Given the description of an element on the screen output the (x, y) to click on. 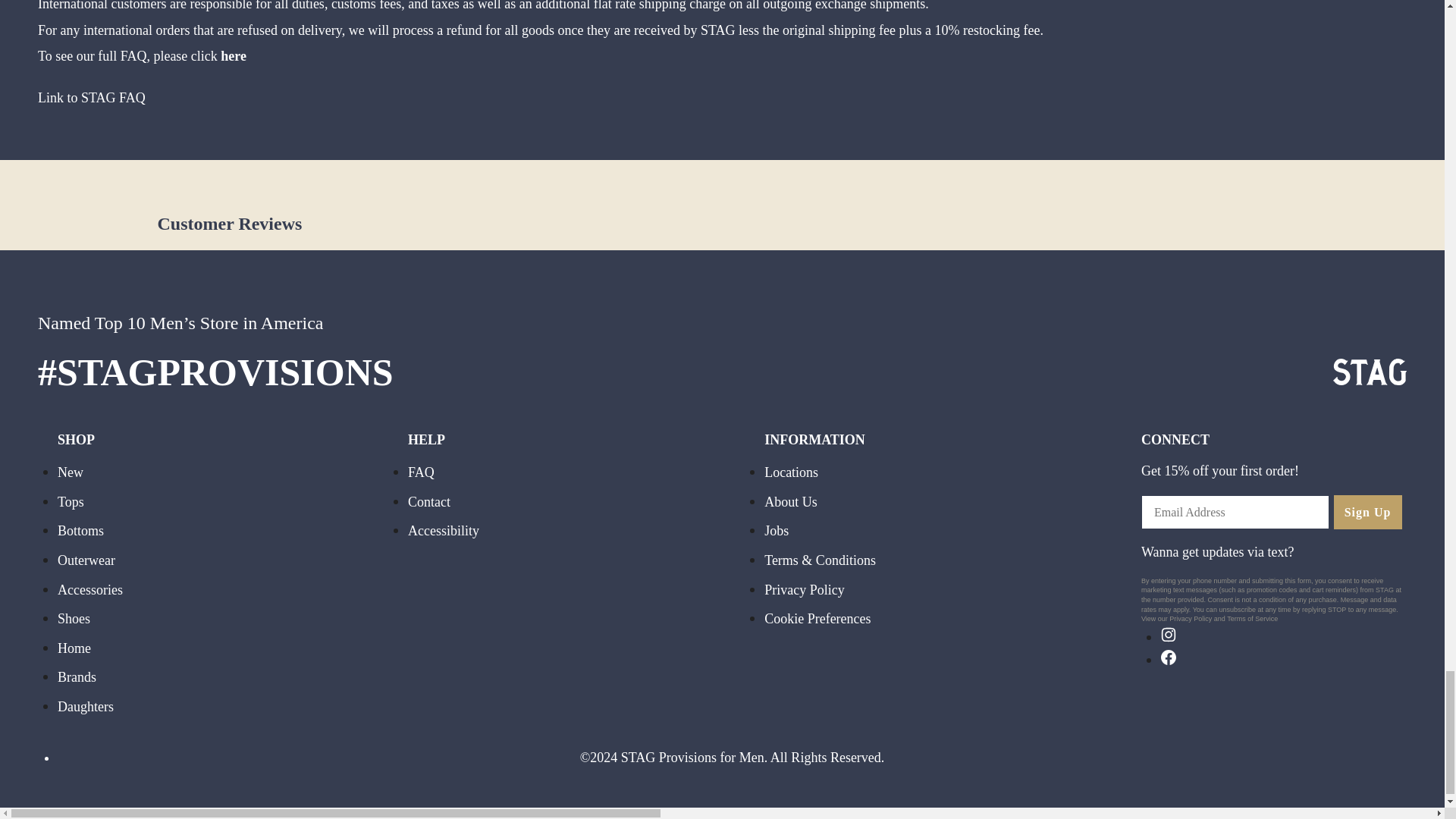
Privacy Policy (1190, 620)
STAG Provisions FAQ page (233, 57)
STAG Provisions FAQ (91, 99)
